Given the description of an element on the screen output the (x, y) to click on. 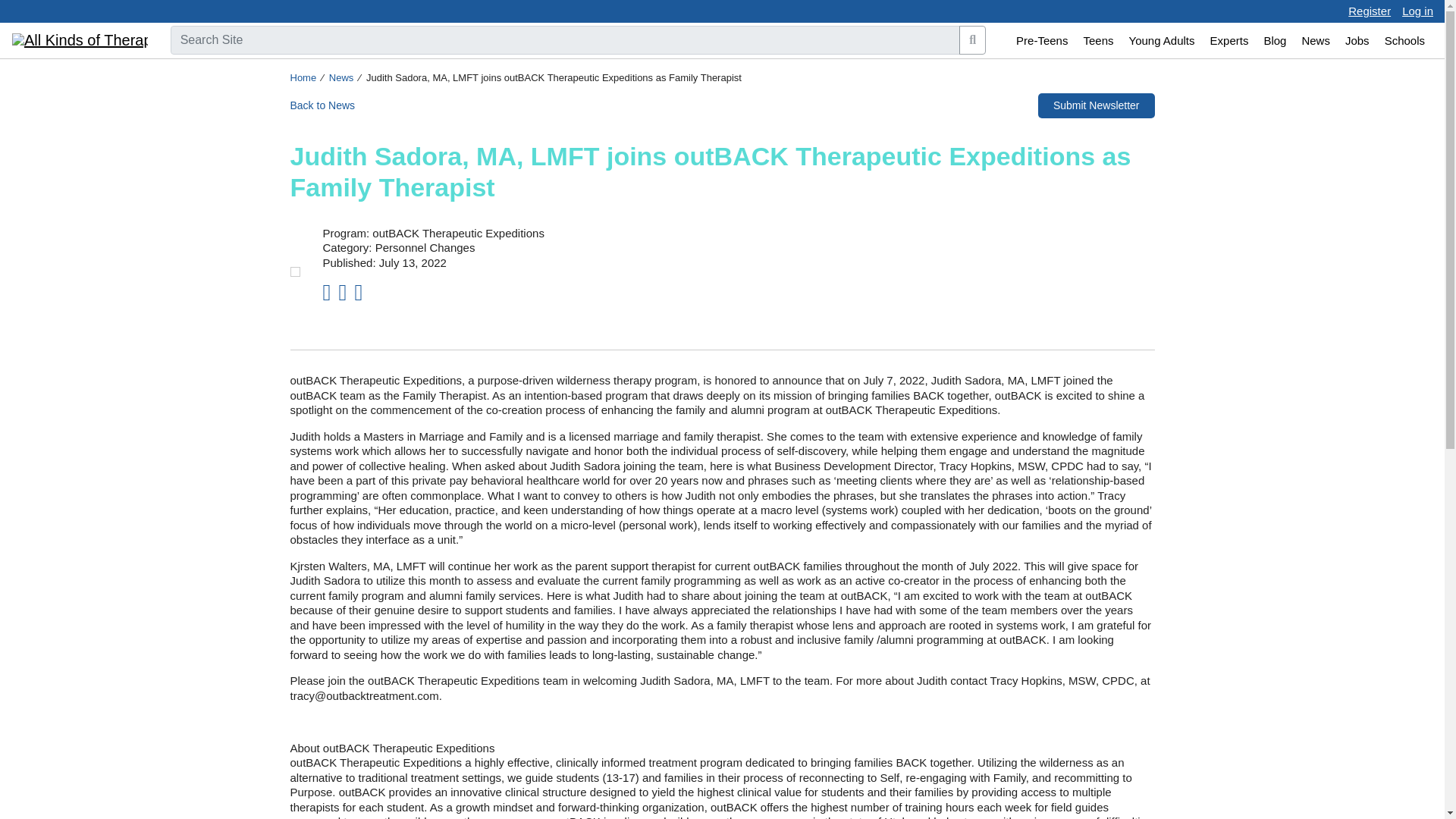
Young Adults (1161, 40)
Log in (1417, 10)
Pre-Teens (1042, 40)
Schools (1404, 40)
Experts (1229, 40)
Submit Newsletter (1096, 104)
Search Site (565, 39)
Pre-Teens (1042, 40)
Submit Newsletter (1096, 104)
Jobs (1357, 40)
Jobs (1357, 40)
Teens (1098, 40)
Blog (1274, 40)
Register (1369, 10)
Teens (1098, 40)
